Given the description of an element on the screen output the (x, y) to click on. 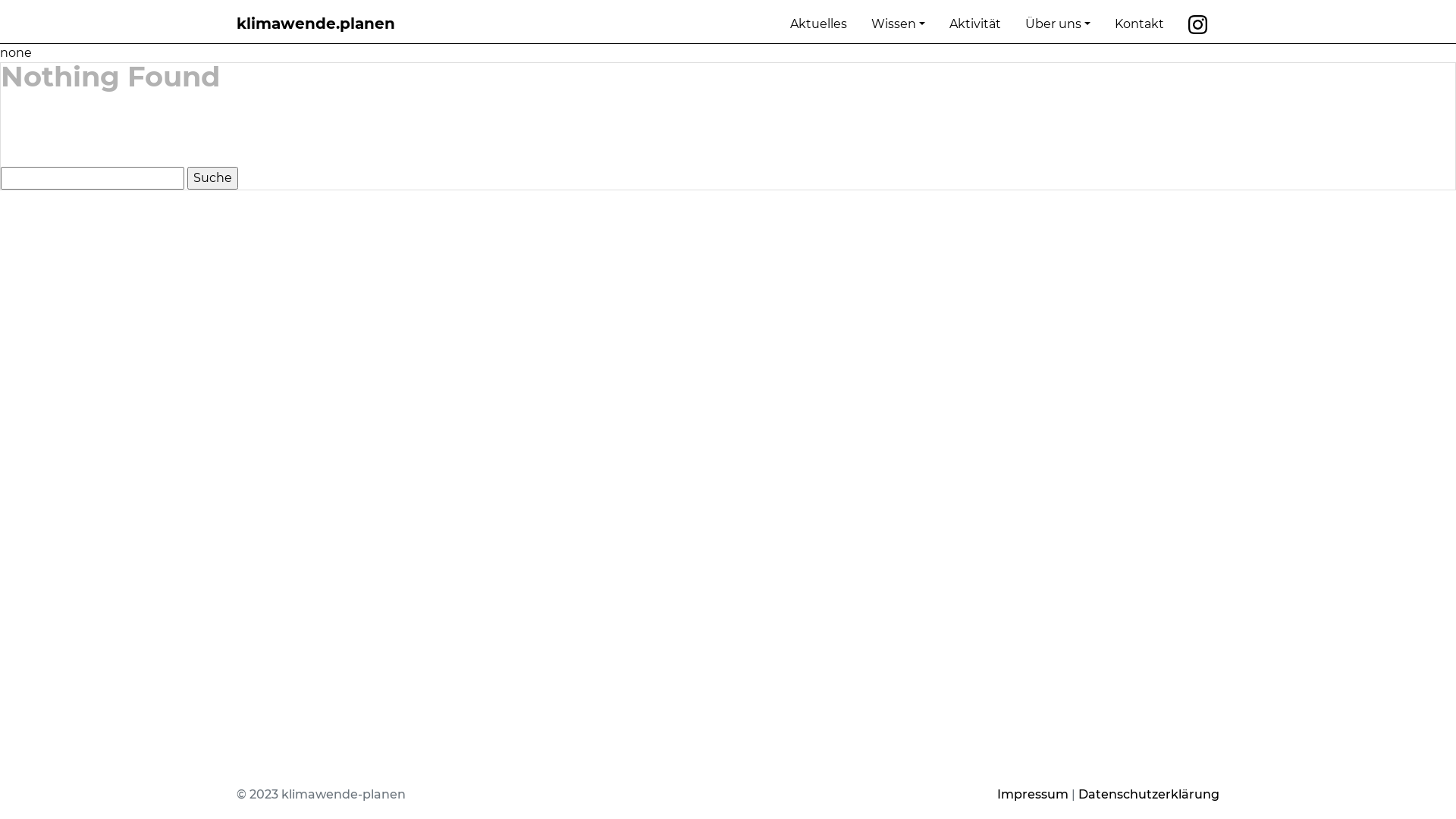
Wissen Element type: text (898, 24)
Impressum Element type: text (1032, 794)
klimawende.planen Element type: text (315, 23)
Suche Element type: text (212, 177)
Kontakt Element type: text (1139, 24)
Aktuelles Element type: text (818, 24)
